Given the description of an element on the screen output the (x, y) to click on. 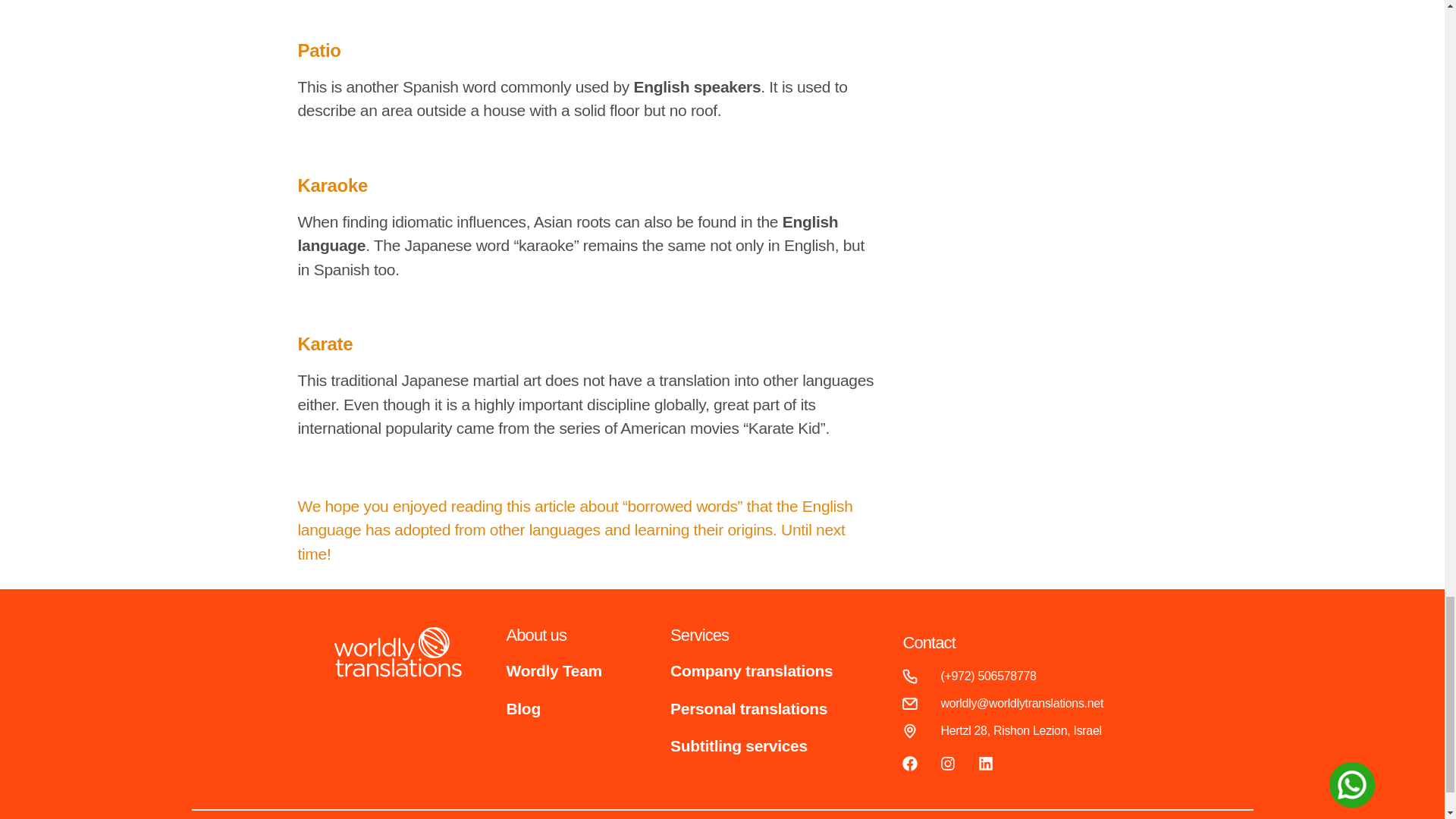
Wordly Team (554, 670)
Company translations (750, 670)
Blog (523, 707)
